Given the description of an element on the screen output the (x, y) to click on. 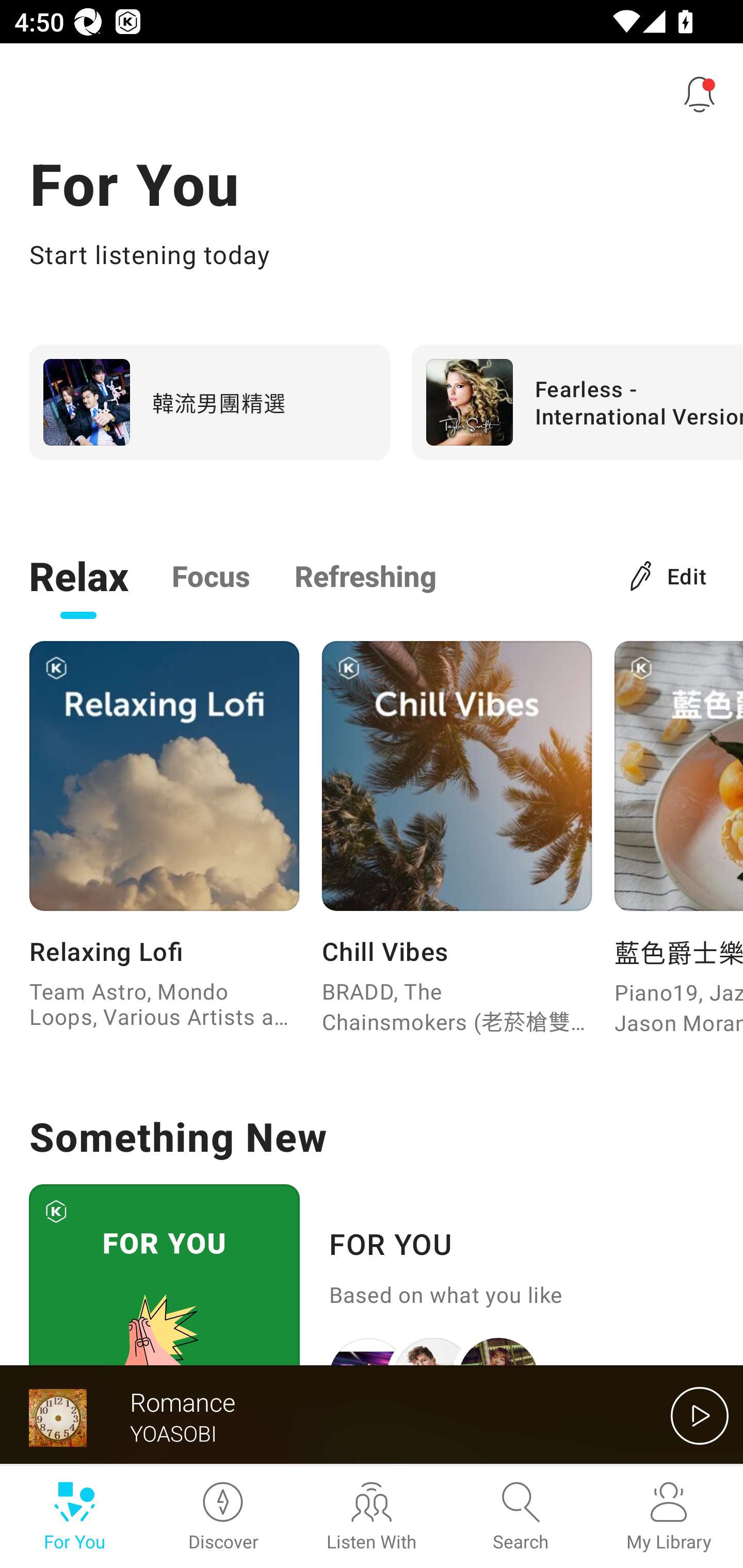
Notification (699, 93)
view_image 韓流男團精選 (209, 401)
view_image Fearless - International Version (577, 401)
Focus (211, 575)
Refreshing (365, 575)
Edit (668, 575)
開始播放 (699, 1415)
For You (74, 1517)
Discover (222, 1517)
Listen With (371, 1517)
Search (519, 1517)
My Library (668, 1517)
